Given the description of an element on the screen output the (x, y) to click on. 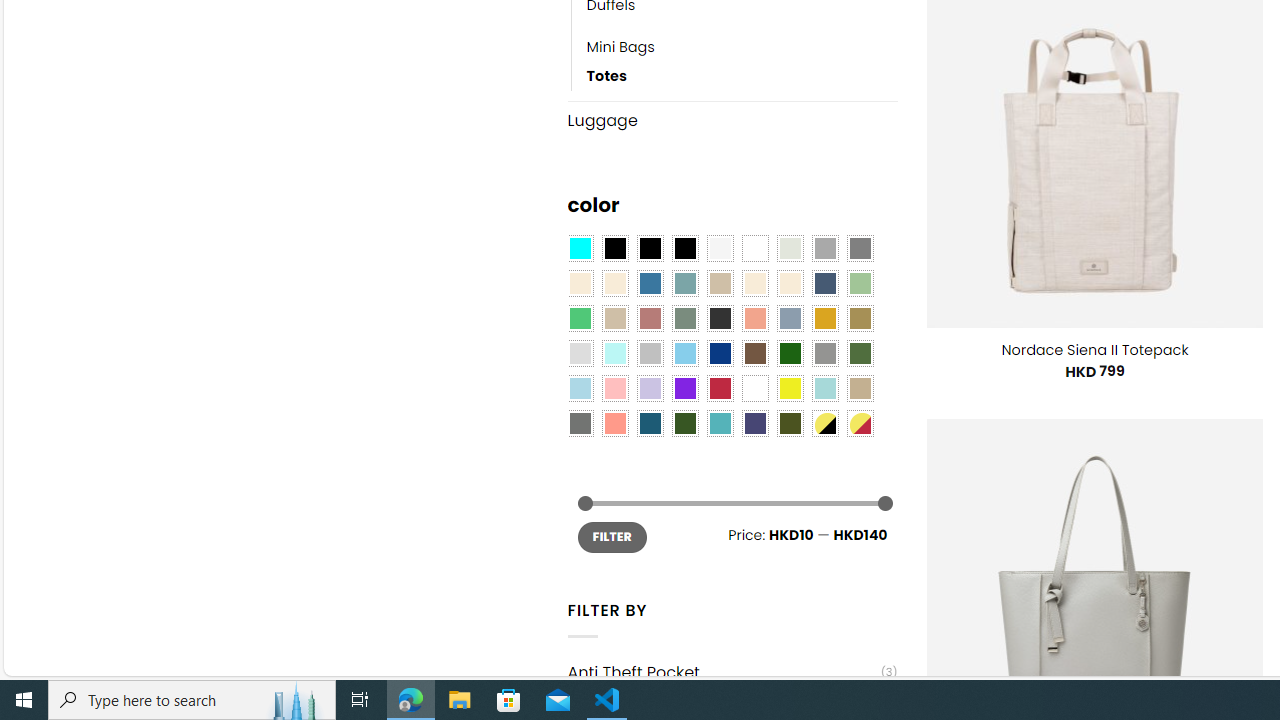
Pearly White (719, 249)
Green (859, 354)
Dark Green (789, 354)
FILTER (612, 536)
Sage (684, 318)
Beige (579, 283)
Coral (755, 318)
Dark Gray (824, 249)
Brownie (719, 283)
Forest (684, 424)
Peach Pink (614, 424)
Totes (606, 76)
Light Purple (650, 388)
Aqua (824, 388)
Dusty Blue (789, 318)
